Given the description of an element on the screen output the (x, y) to click on. 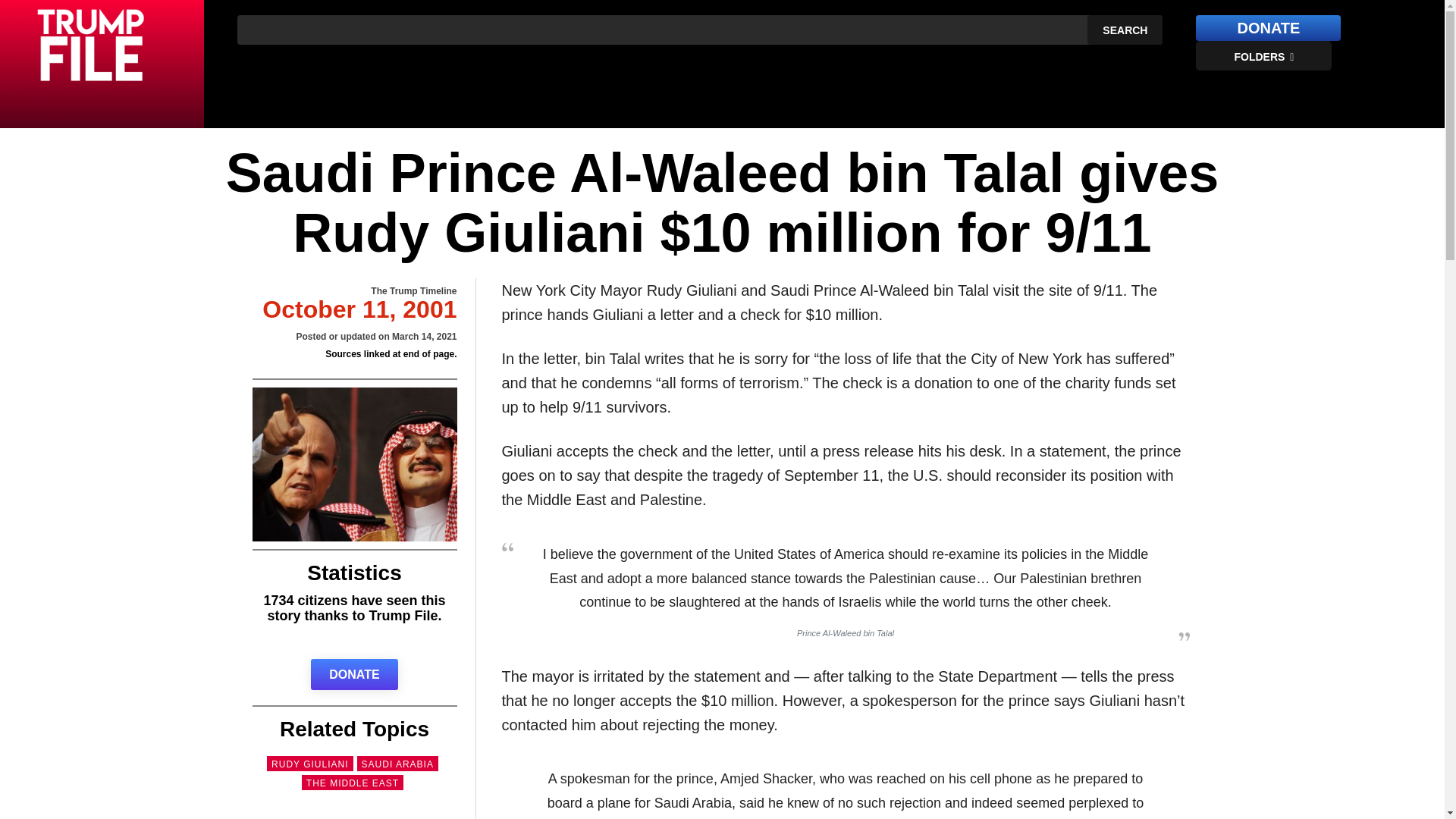
DONATE (354, 674)
Prince-Giuliani (354, 464)
Donate (1268, 27)
